Given the description of an element on the screen output the (x, y) to click on. 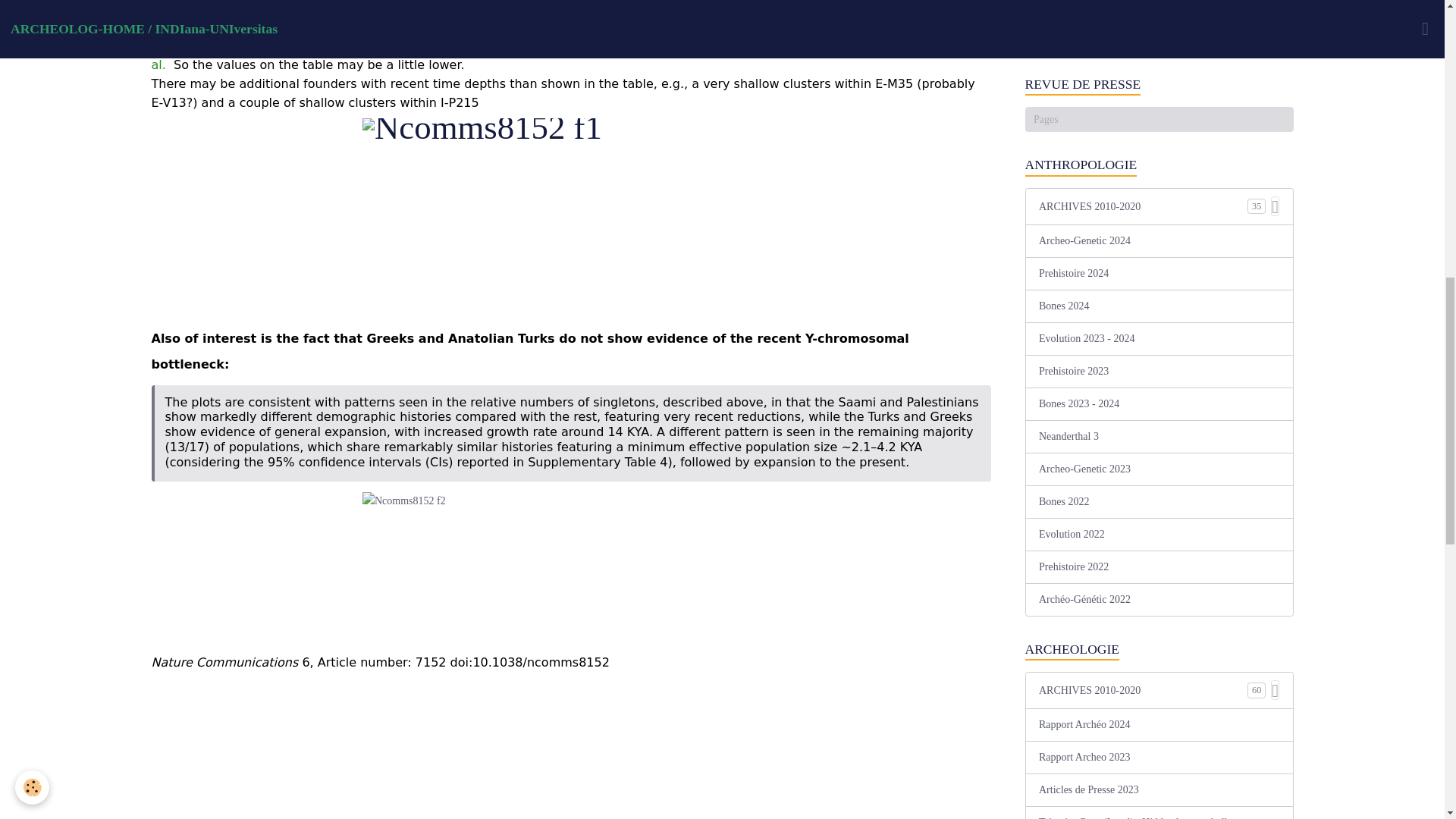
Karmin et al.  (552, 54)
REVUE DE PRESSE (1159, 84)
